Given the description of an element on the screen output the (x, y) to click on. 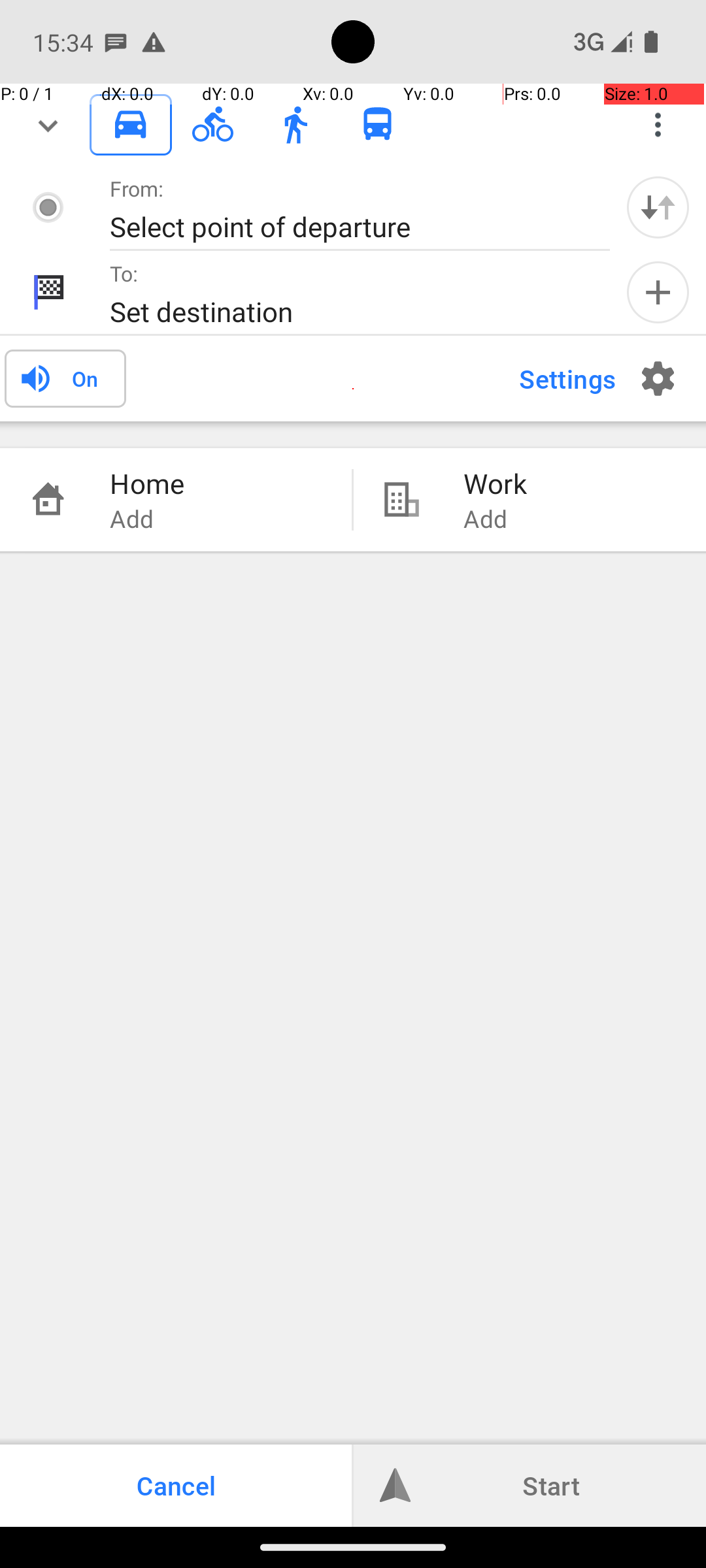
Map Element type: android.view.View (353, 763)
fold/unfold Element type: android.widget.ImageView (48, 124)
Choose app modes Element type: android.widget.ImageView (657, 124)
Driving Element type: android.widget.FrameLayout (130, 124)
Cycling Element type: android.widget.FrameLayout (212, 124)
Walking Element type: android.widget.FrameLayout (295, 124)
Public transport Element type: android.widget.FrameLayout (377, 124)
From: Element type: android.widget.TextView (136, 188)
Select point of departure Element type: android.widget.TextView (345, 226)
Swap Element type: android.widget.FrameLayout (657, 207)
To: Element type: android.widget.TextView (123, 273)
Set destination Element type: android.widget.TextView (345, 310)
Add Element type: android.widget.FrameLayout (657, 292)
Driving checked Element type: android.widget.ImageView (130, 124)
Cycling unchecked Element type: android.widget.ImageView (212, 124)
Walking unchecked Element type: android.widget.ImageView (294, 124)
Public transport unchecked Element type: android.widget.ImageView (377, 124)
On Element type: android.widget.TextView (84, 378)
Work Element type: android.widget.TextView (570, 482)
